Given the description of an element on the screen output the (x, y) to click on. 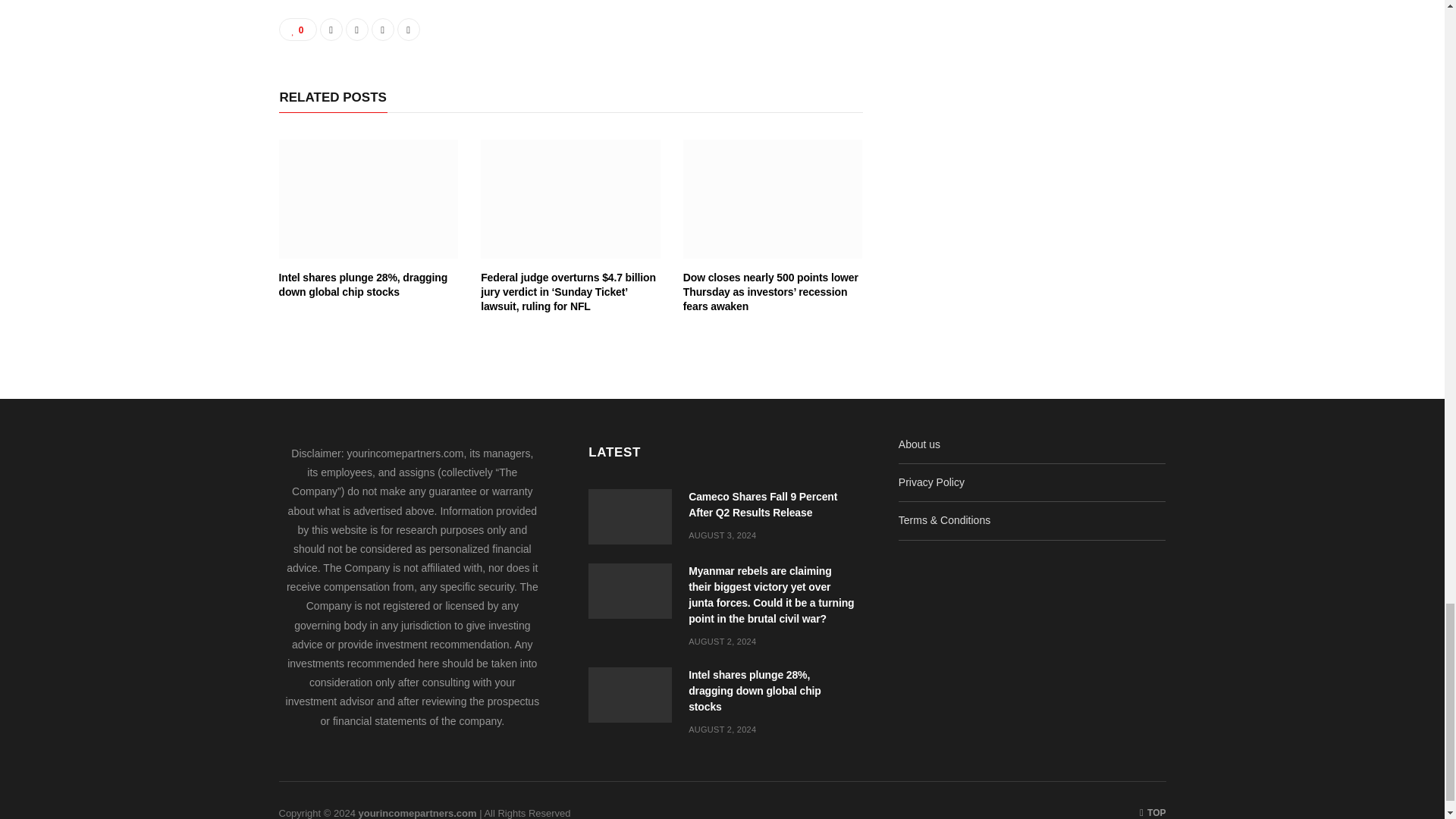
0 (298, 29)
